Given the description of an element on the screen output the (x, y) to click on. 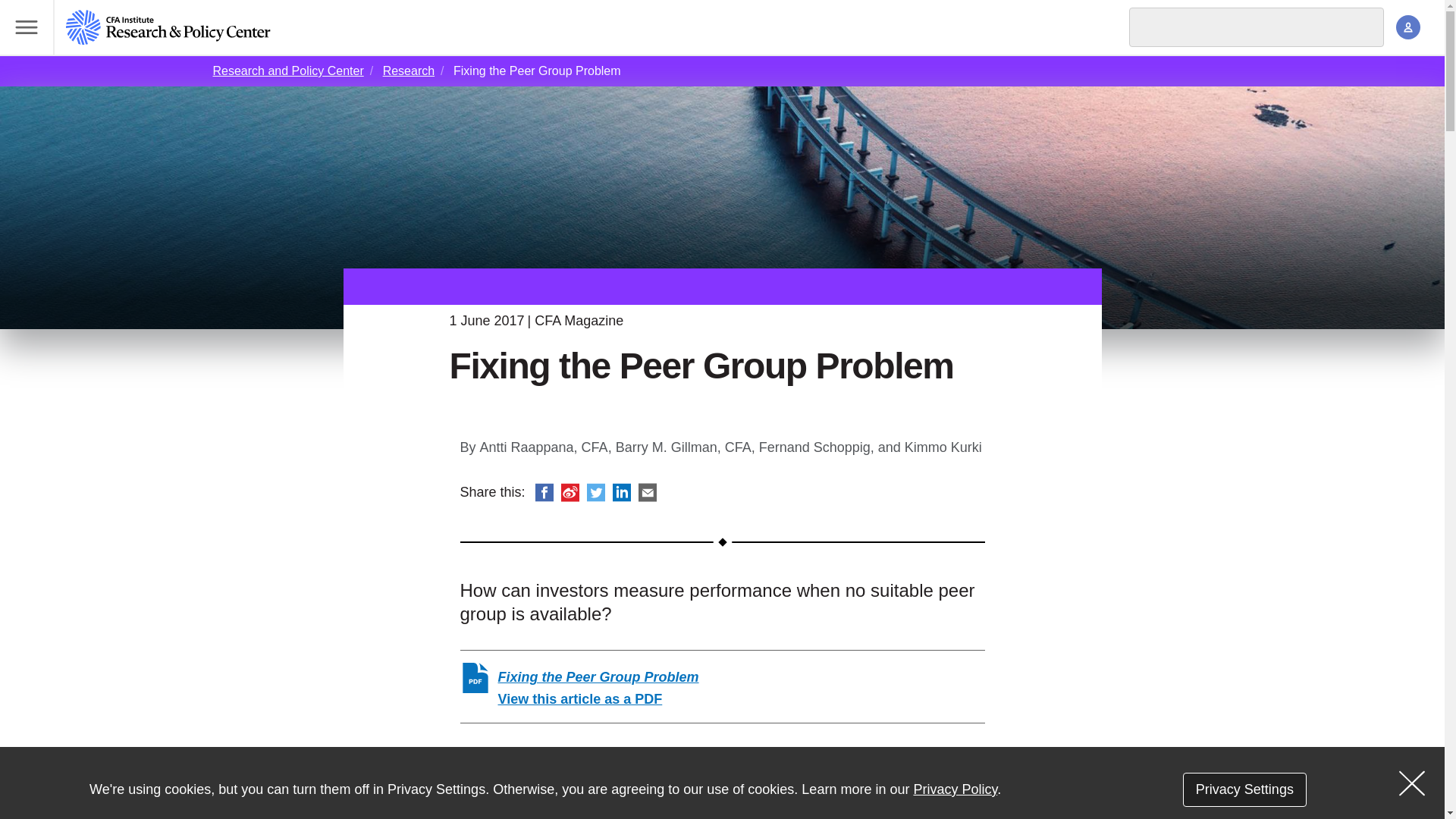
Share on Facebook (544, 492)
Share on Twitter (595, 492)
Share by Email (647, 492)
Share on Weibo (569, 492)
Share on LinkedIn (621, 492)
Toggle menu (27, 27)
Account (1408, 27)
